Given the description of an element on the screen output the (x, y) to click on. 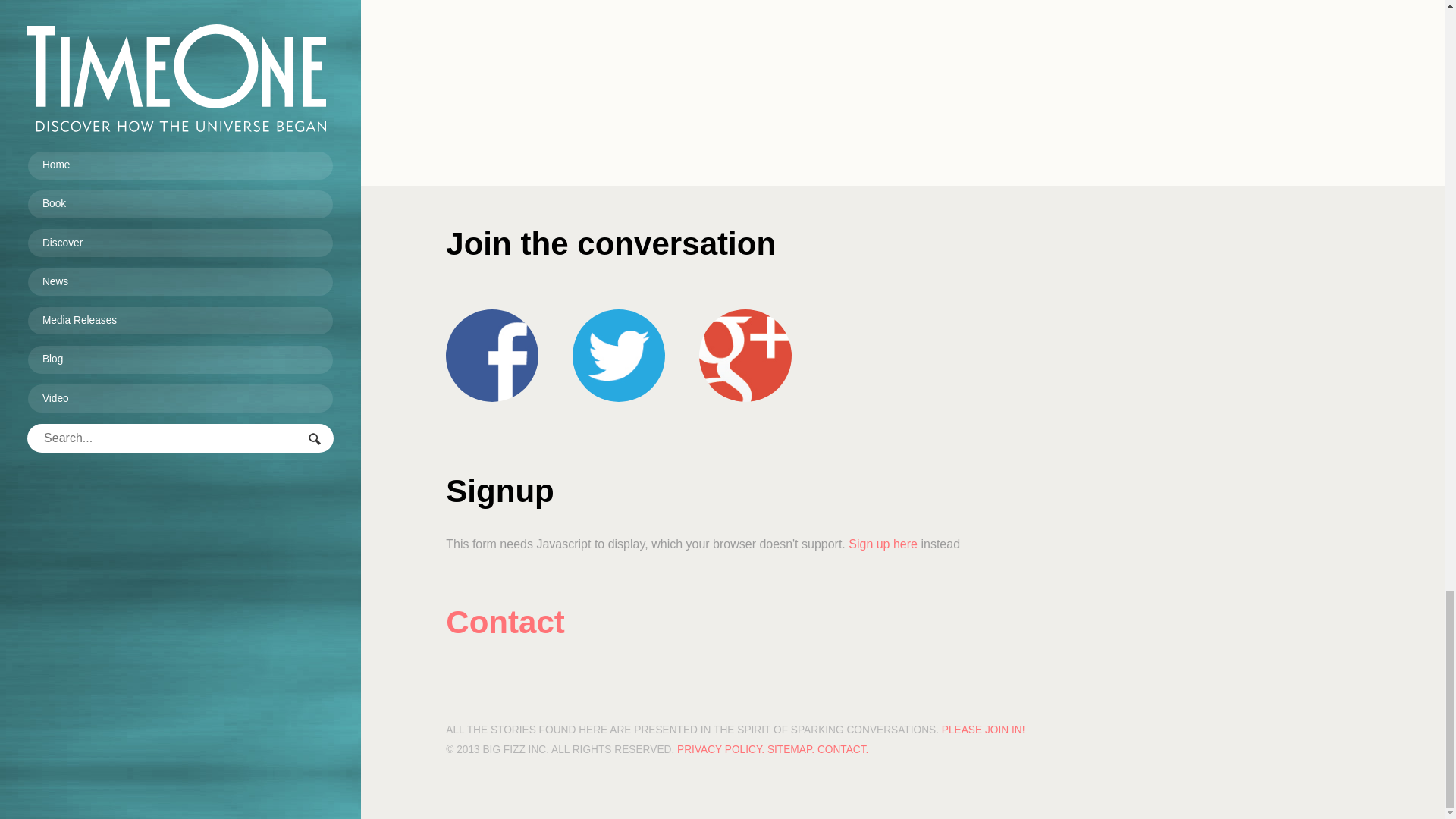
Twitter (618, 355)
Facebook (491, 355)
view privacy policy (720, 749)
